Given the description of an element on the screen output the (x, y) to click on. 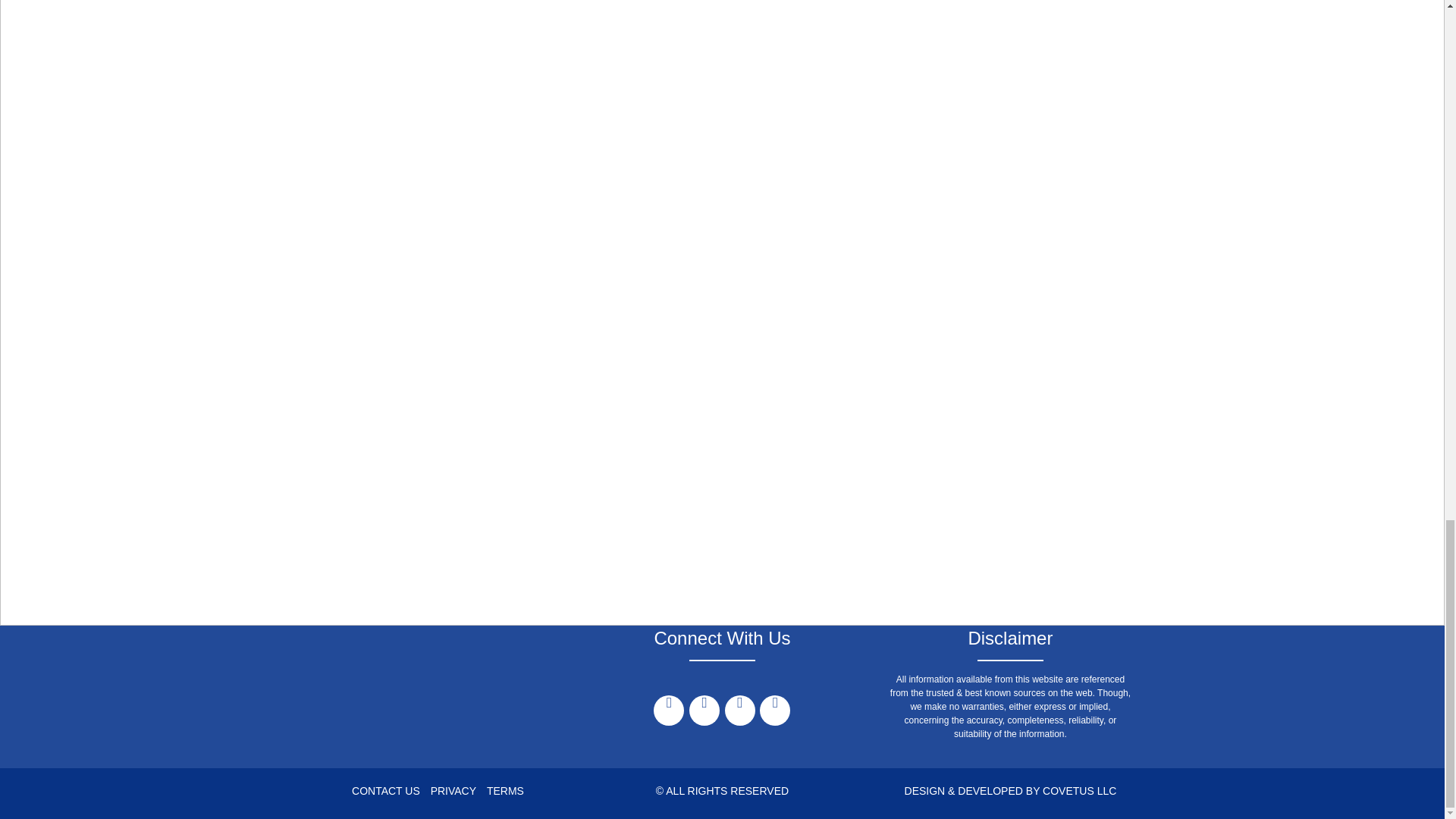
TERMS (505, 790)
CONTACT US (386, 790)
PRIVACY (453, 790)
